Given the description of an element on the screen output the (x, y) to click on. 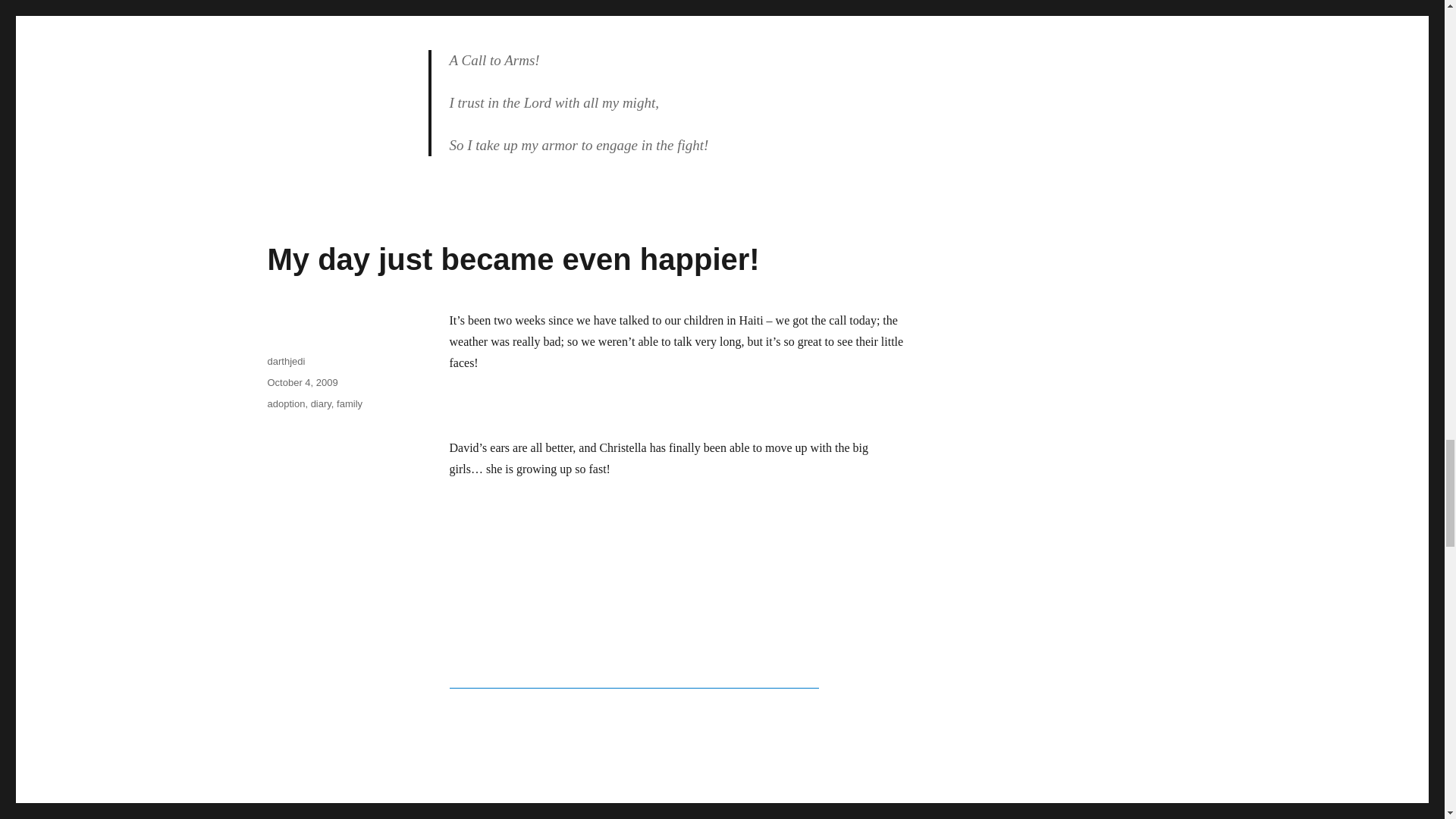
October 4, 2009 (301, 382)
adoption (285, 403)
My day just became even happier! (512, 259)
darthjedi (285, 360)
image (633, 681)
